Given the description of an element on the screen output the (x, y) to click on. 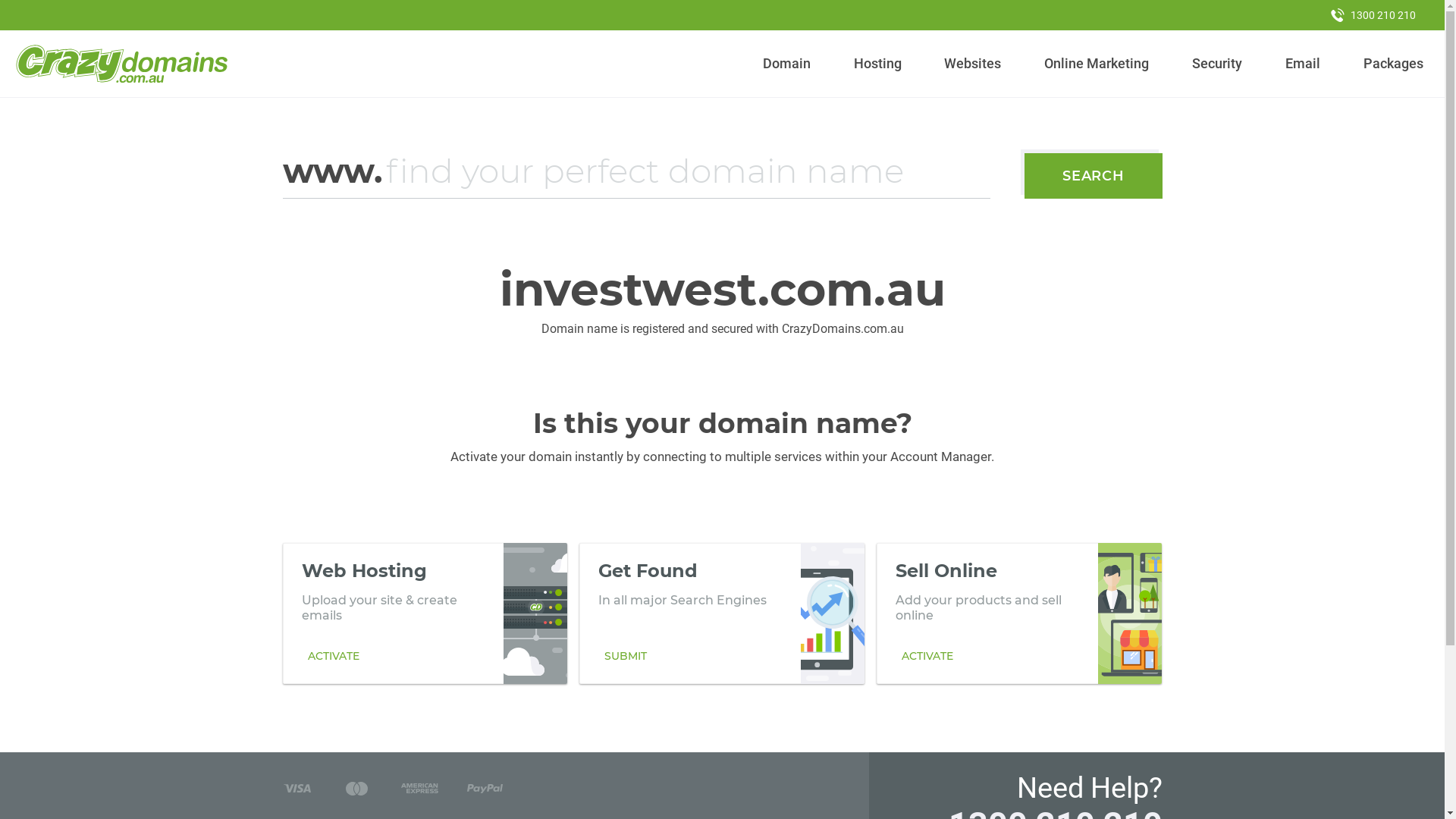
Get Found
In all major Search Engines
SUBMIT Element type: text (721, 613)
Packages Element type: text (1392, 63)
Web Hosting
Upload your site & create emails
ACTIVATE Element type: text (424, 613)
Domain Element type: text (786, 63)
Online Marketing Element type: text (1096, 63)
Sell Online
Add your products and sell online
ACTIVATE Element type: text (1018, 613)
Security Element type: text (1217, 63)
Hosting Element type: text (877, 63)
Websites Element type: text (972, 63)
Email Element type: text (1302, 63)
SEARCH Element type: text (1092, 175)
1300 210 210 Element type: text (1373, 15)
